Given the description of an element on the screen output the (x, y) to click on. 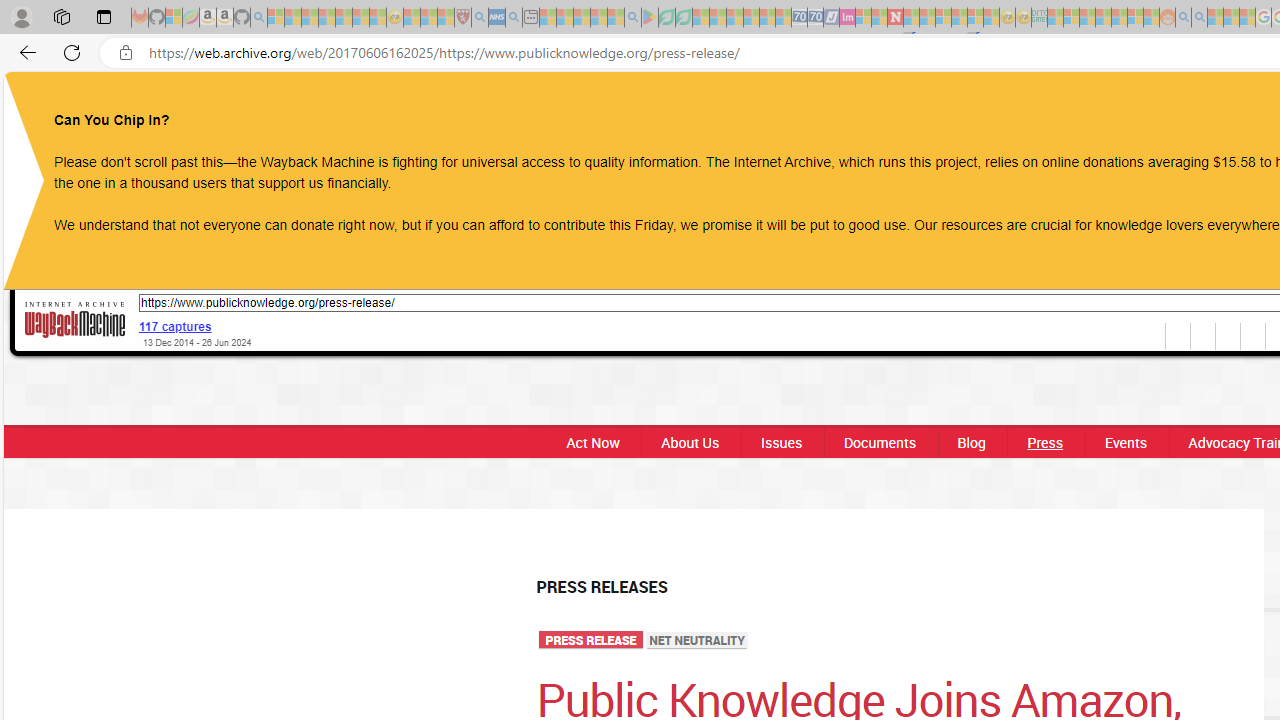
Blog (970, 442)
Issues (781, 442)
Events (1126, 442)
